Given the description of an element on the screen output the (x, y) to click on. 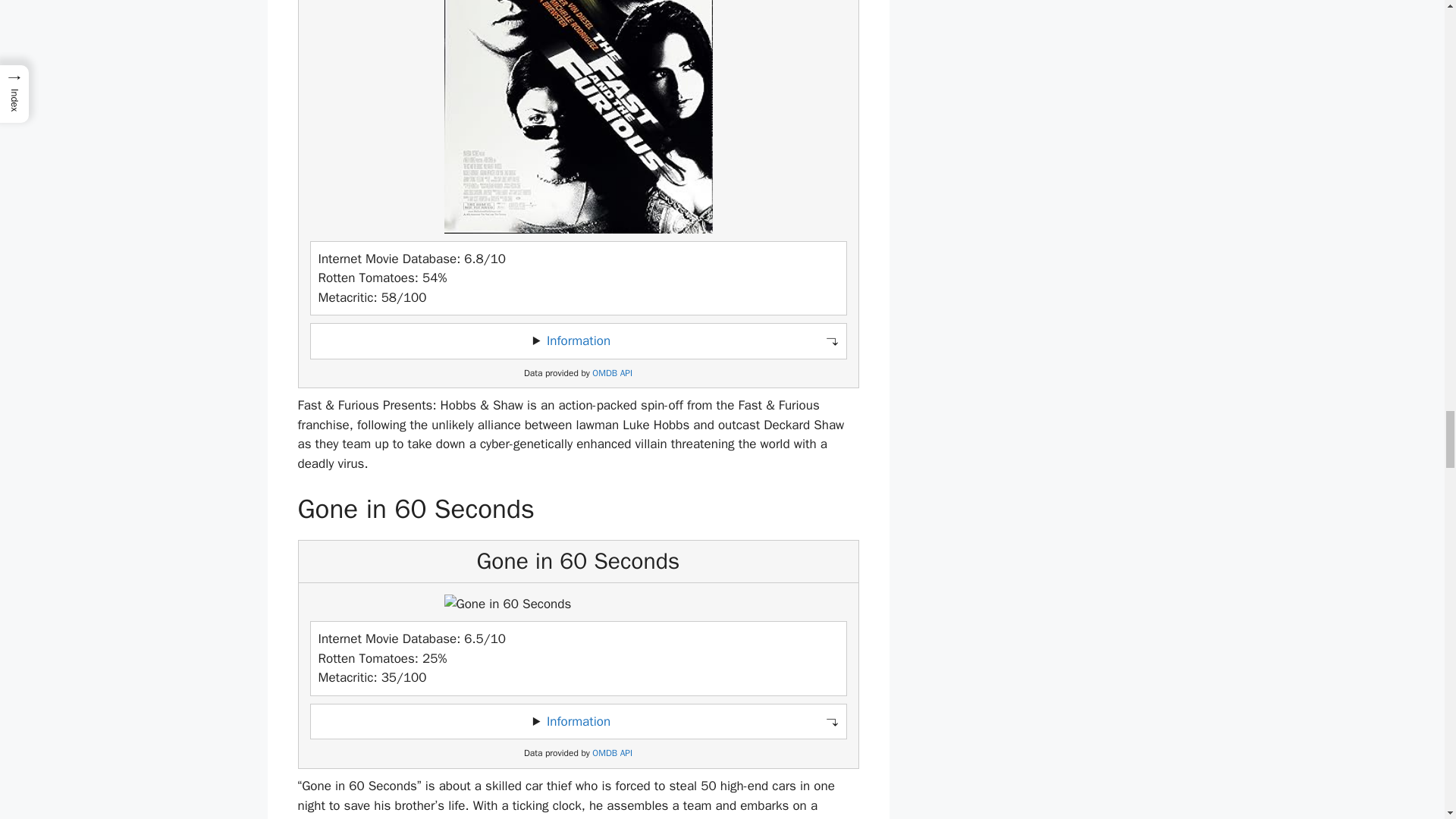
OMDB API (611, 372)
Information (578, 340)
OMDB API (611, 753)
Information (578, 721)
